Given the description of an element on the screen output the (x, y) to click on. 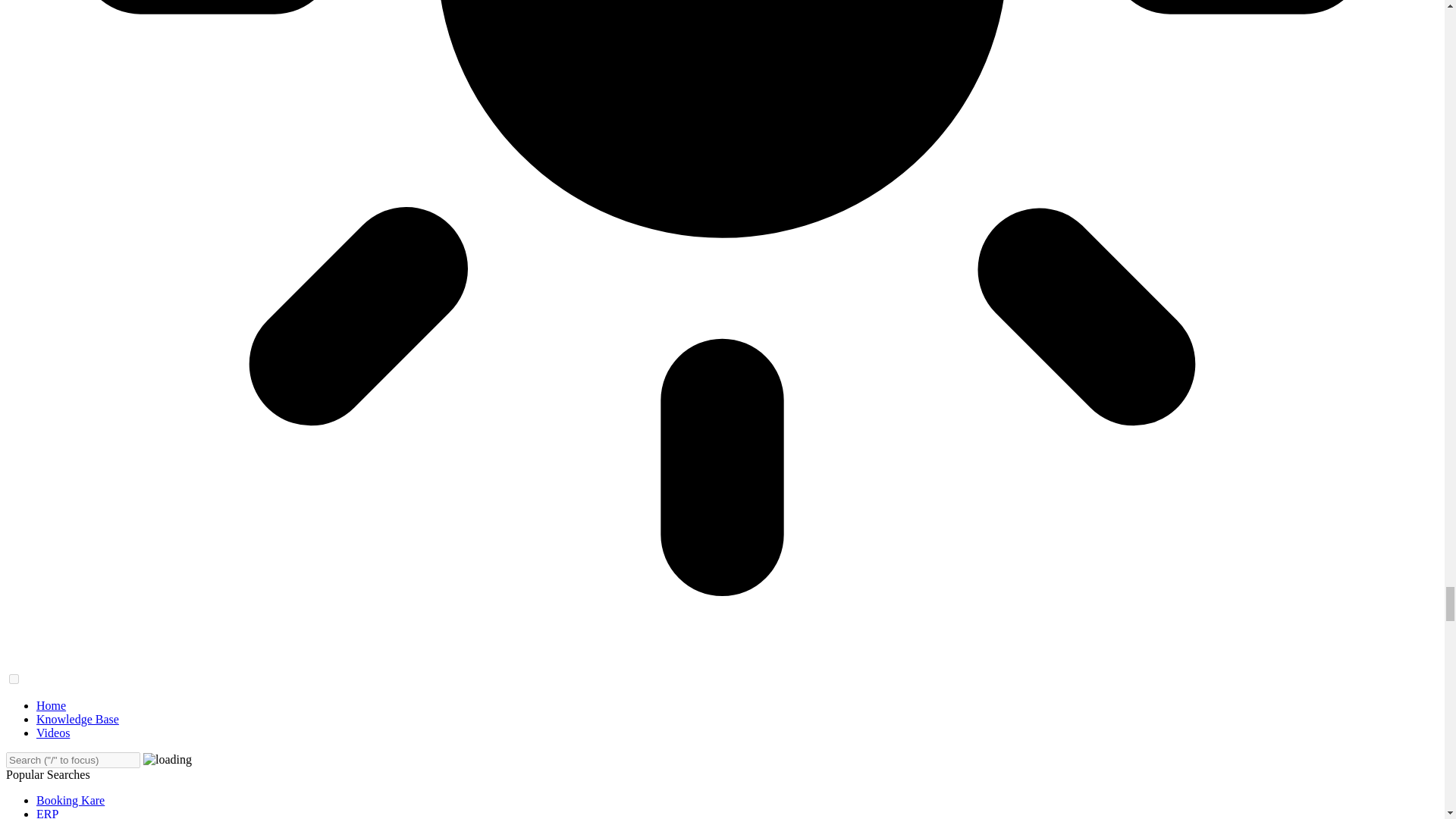
ERP (47, 813)
Home (50, 705)
Videos (52, 732)
Booking Kare (70, 799)
Home (50, 705)
on (13, 678)
Videos (52, 732)
Knowledge Base (77, 718)
Knowledge Base (77, 718)
